Given the description of an element on the screen output the (x, y) to click on. 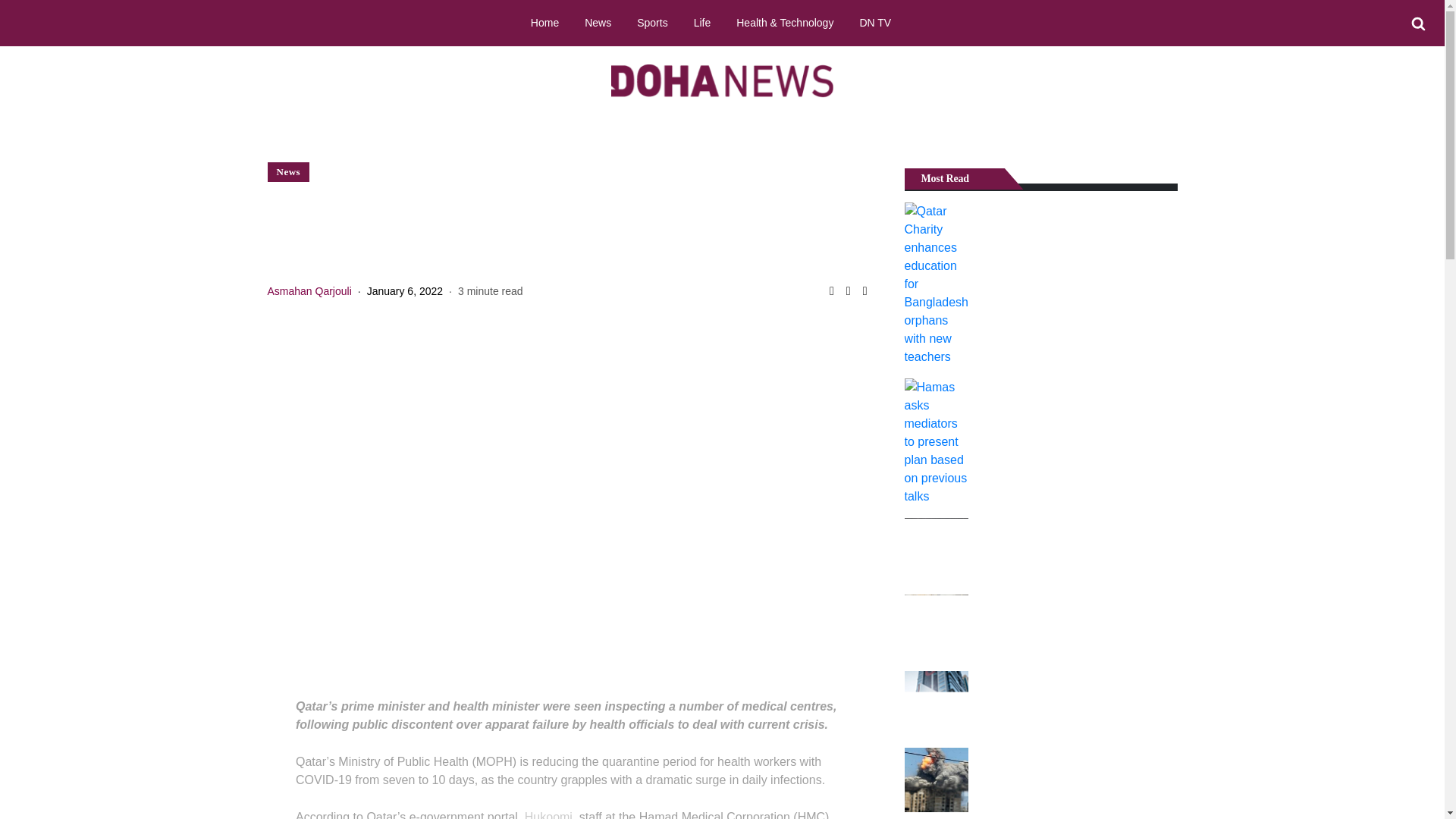
View all posts by Asmahan Qarjouli (308, 291)
Search (1417, 23)
DN TV (875, 22)
January 6, 2022 (404, 291)
News (598, 22)
Hukoomi (548, 814)
Asmahan Qarjouli (308, 291)
Life (702, 22)
News (287, 171)
Sports (651, 22)
